Given the description of an element on the screen output the (x, y) to click on. 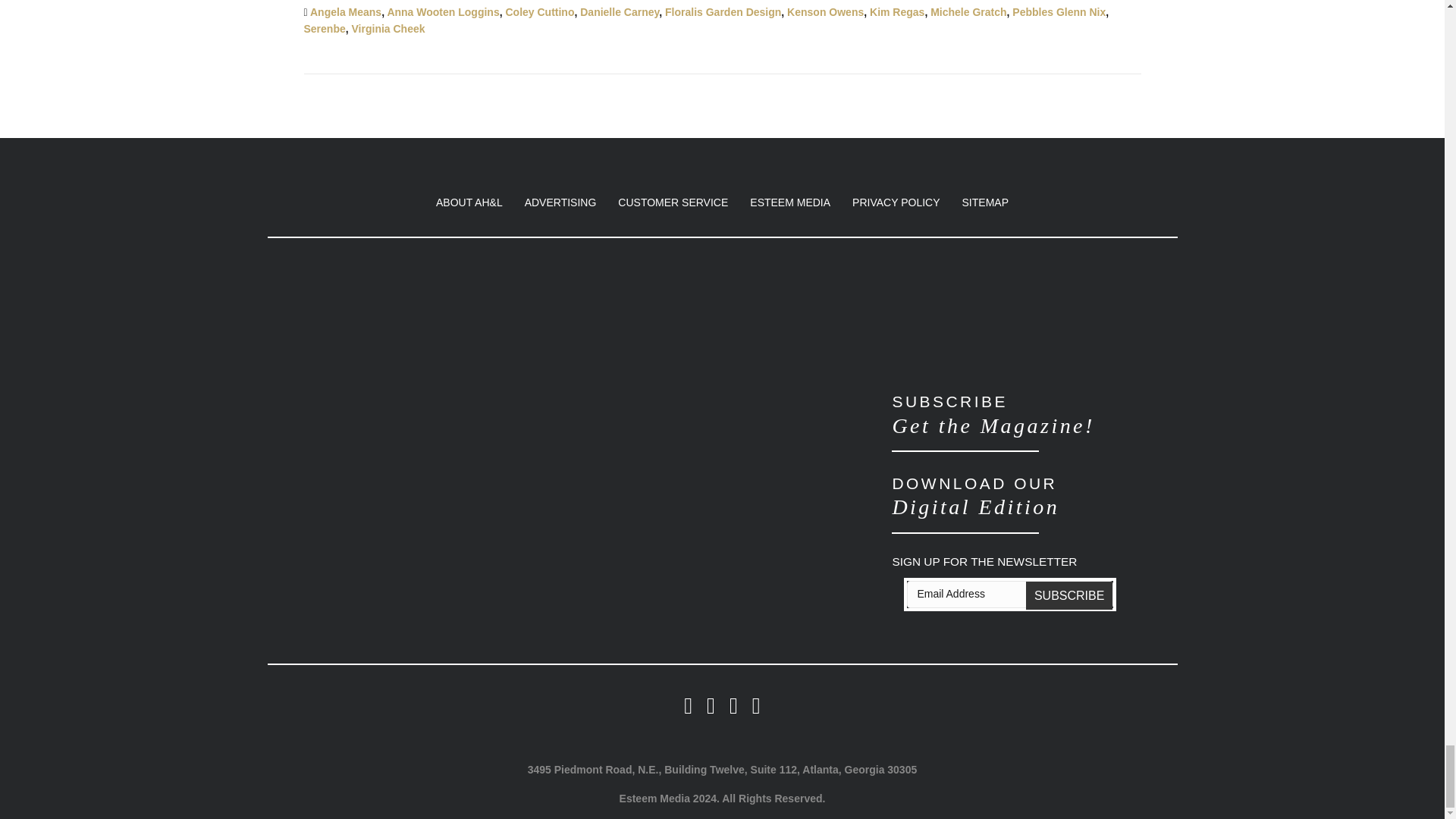
Subscribe (1069, 595)
Email Address (1010, 594)
